Given the description of an element on the screen output the (x, y) to click on. 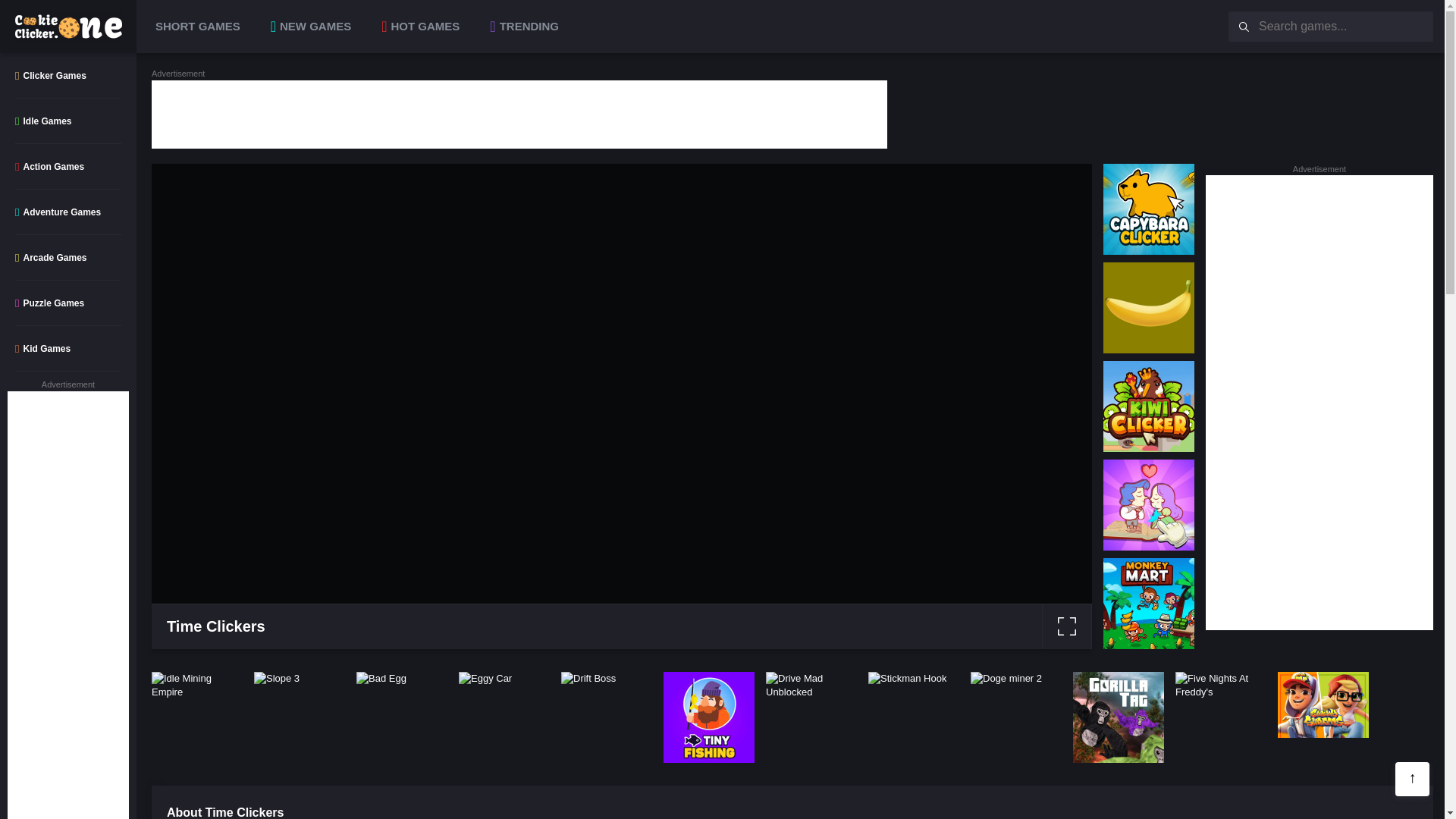
Idle Mining Empire (197, 685)
Drive Mad Unblocked (811, 685)
Tiny Fishing (708, 716)
Drift Boss (587, 678)
Kiwi Clicker (1148, 406)
SHORT GAMES (196, 26)
Monkey Mart (1148, 603)
NEW GAMES (311, 26)
Banana Clicker (1148, 307)
Idle Games (68, 121)
